Given the description of an element on the screen output the (x, y) to click on. 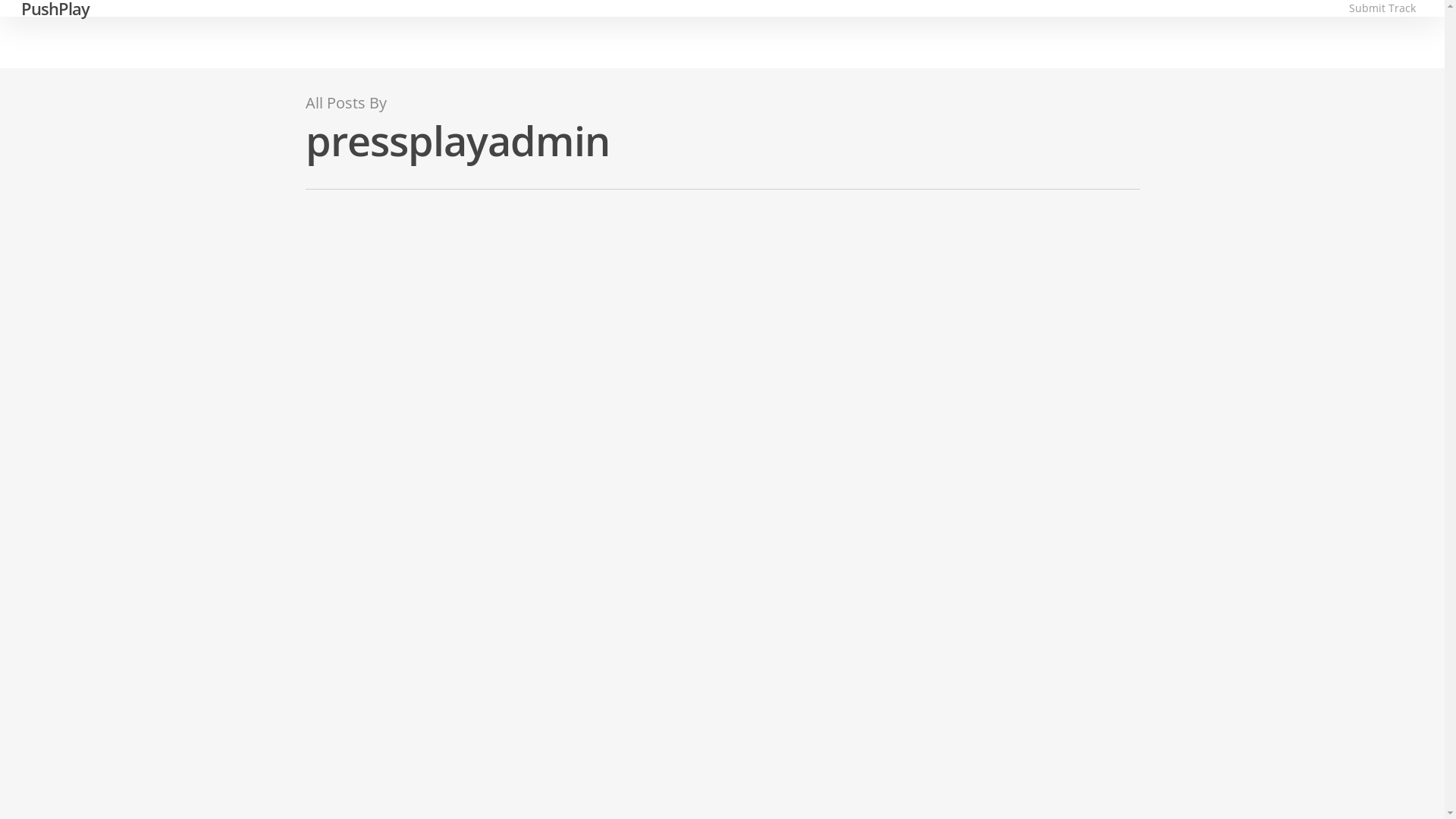
Submit Track Element type: text (1382, 7)
PushPlay Element type: text (55, 8)
